Given the description of an element on the screen output the (x, y) to click on. 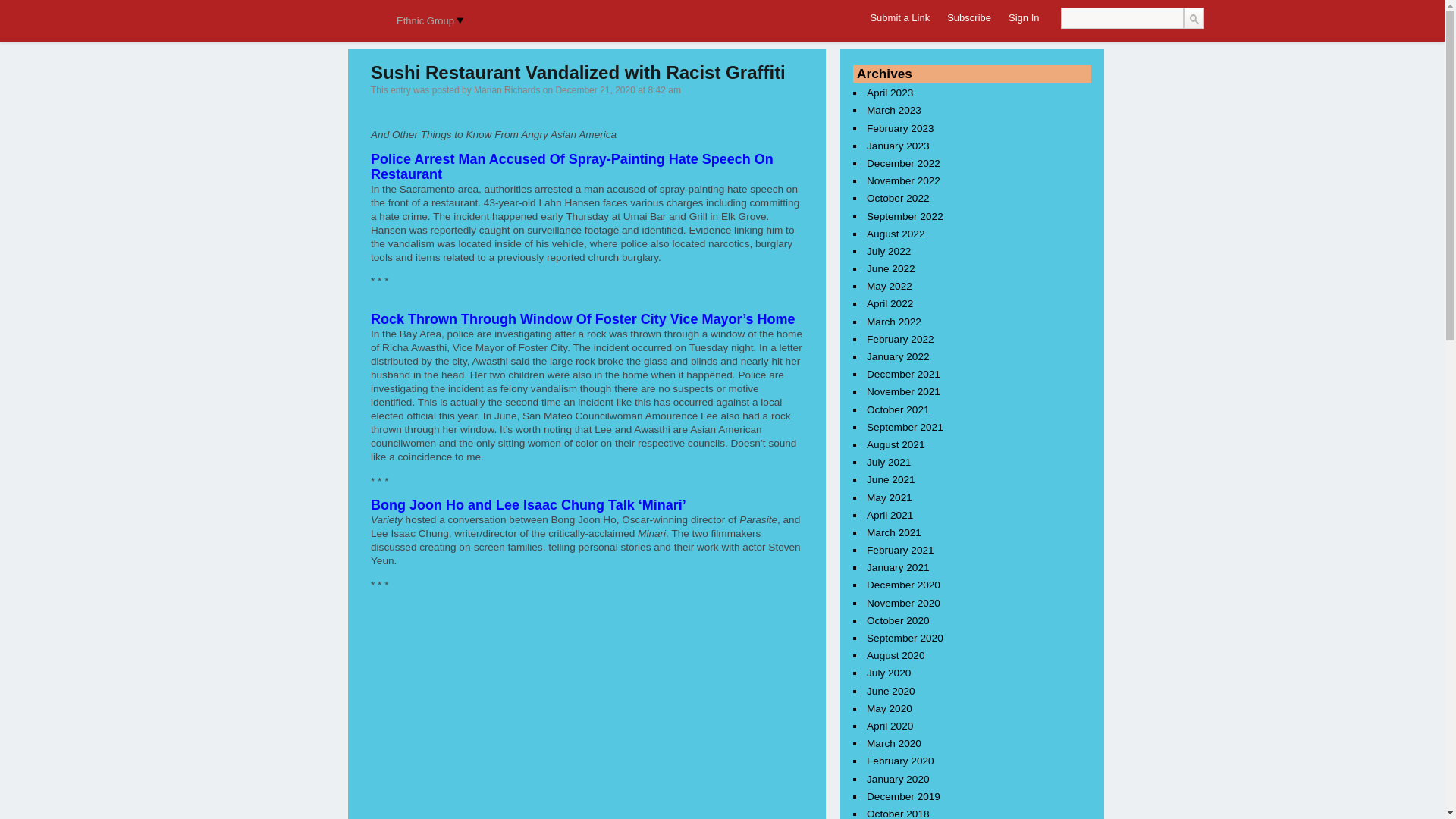
Subscribe (969, 17)
Ethnic Group (426, 20)
Search (1193, 17)
Submit a Link (899, 17)
April 2023 (889, 92)
Sign In (1024, 17)
March 2023 (893, 109)
Search (1193, 17)
Ethnic Group (426, 20)
